Given the description of an element on the screen output the (x, y) to click on. 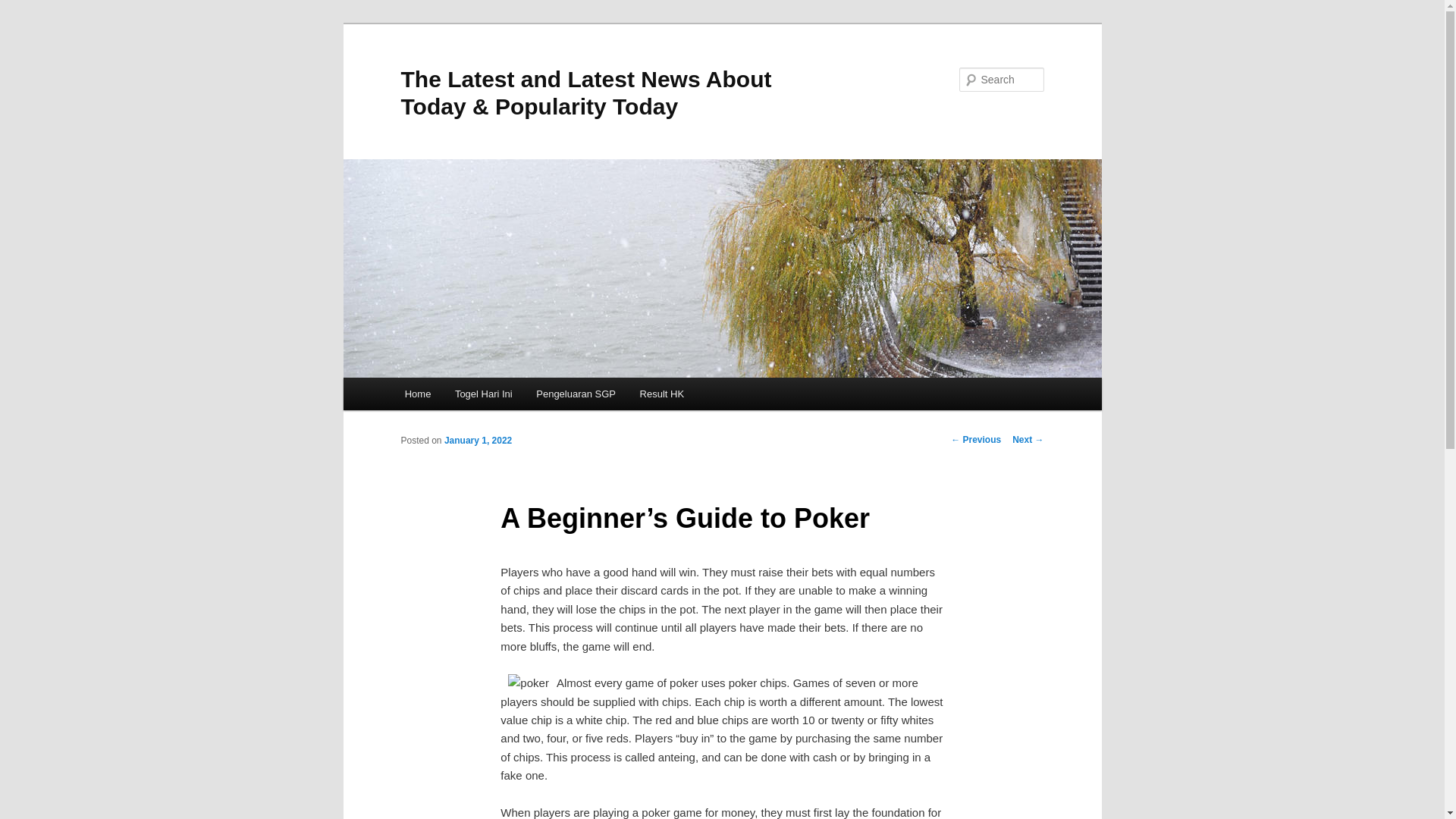
Pengeluaran SGP (575, 393)
Togel Hari Ini (483, 393)
Home (417, 393)
Search (24, 8)
8:43 pm (478, 439)
January 1, 2022 (478, 439)
Result HK (661, 393)
